Given the description of an element on the screen output the (x, y) to click on. 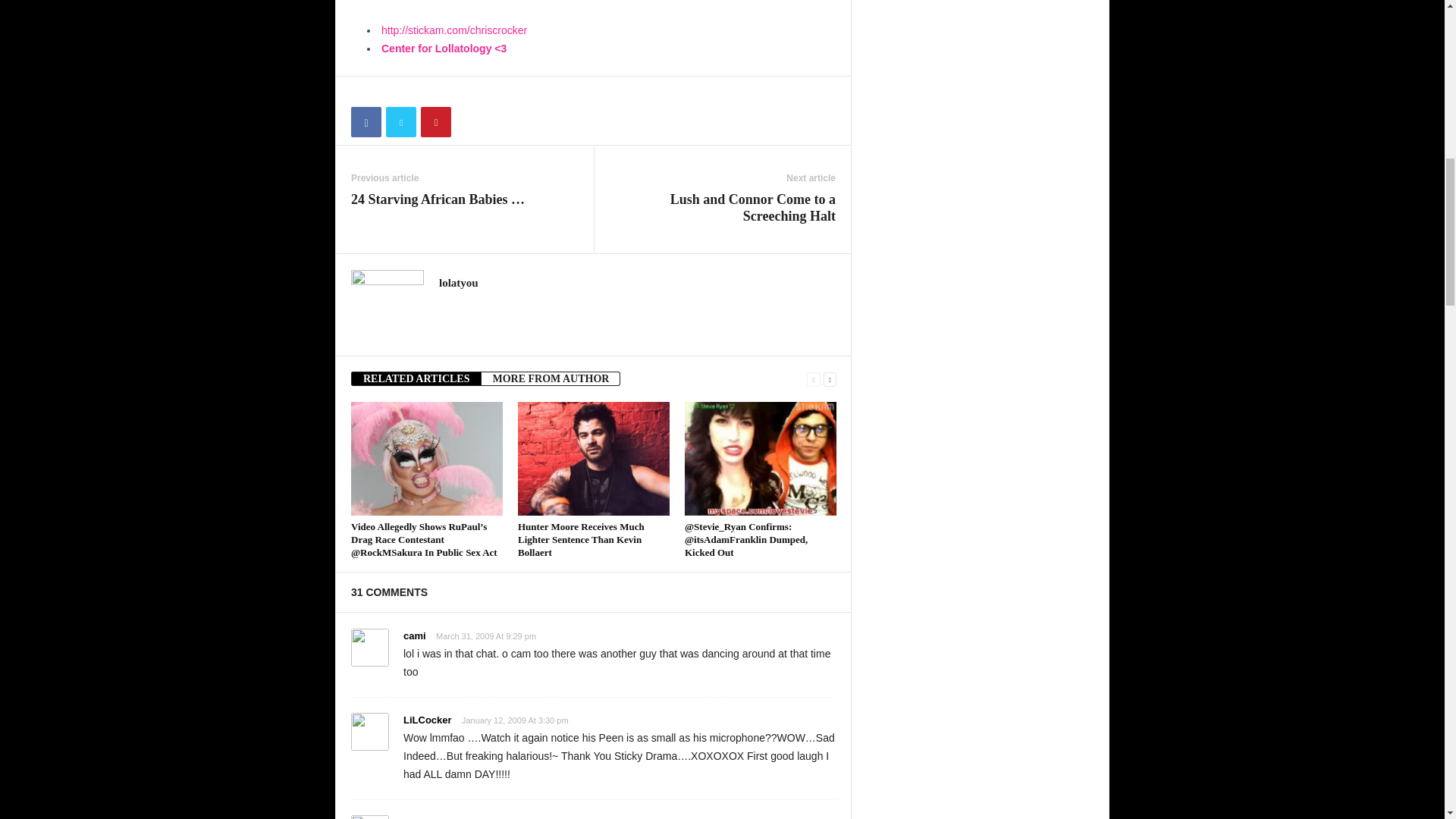
Chris' Stickam Profile (454, 30)
CFL PROFILE (443, 48)
